Given the description of an element on the screen output the (x, y) to click on. 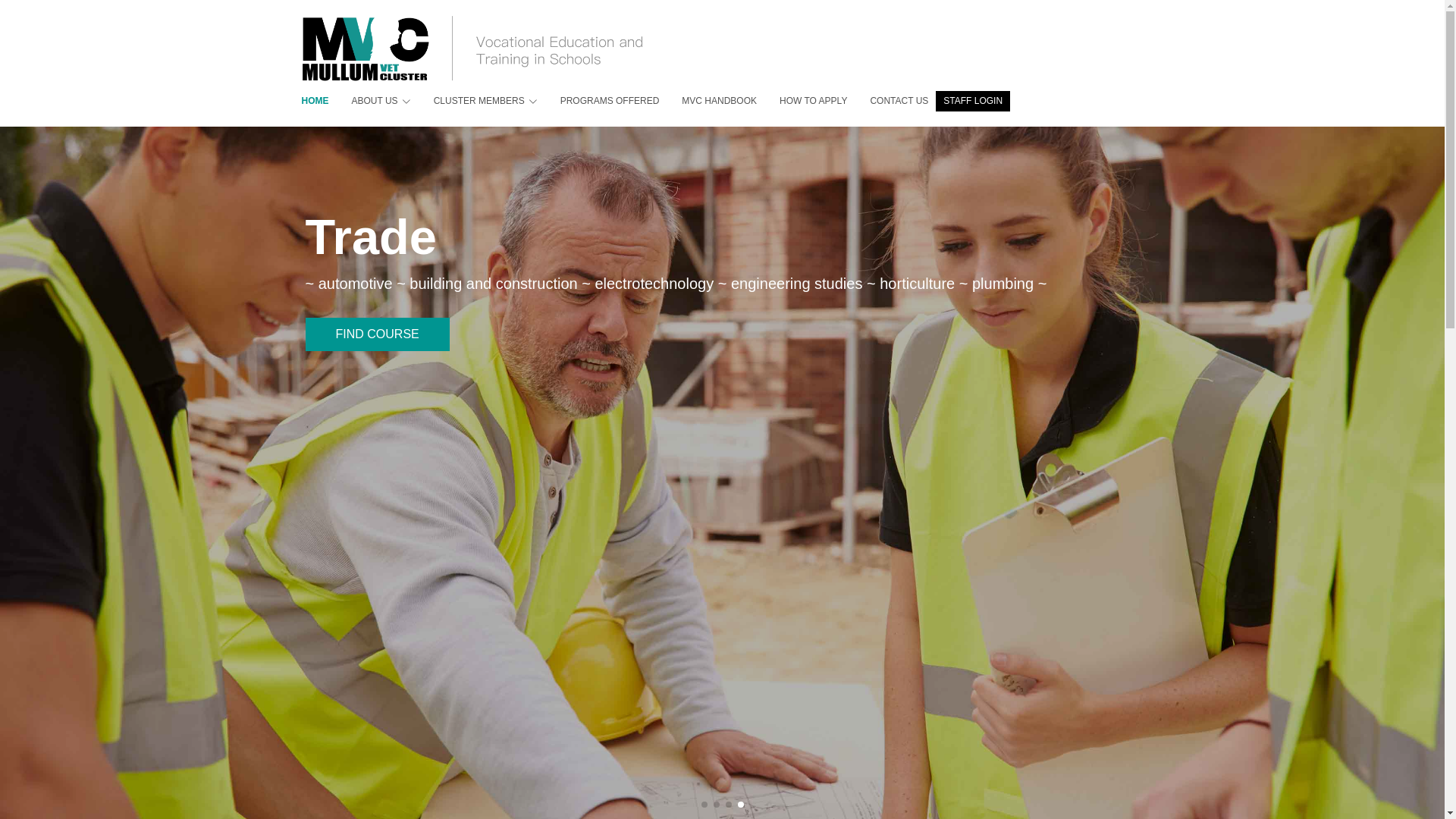
MVC HANDBOOK Element type: text (707, 101)
FIND COURSE Element type: text (376, 355)
ABOUT US Element type: text (370, 101)
HOME Element type: text (315, 101)
STAFF LOGIN Element type: text (972, 101)
PROGRAMS OFFERED Element type: text (598, 101)
CLUSTER MEMBERS Element type: text (474, 101)
CONTACT US Element type: text (887, 101)
HOW TO APPLY Element type: text (801, 101)
